Given the description of an element on the screen output the (x, y) to click on. 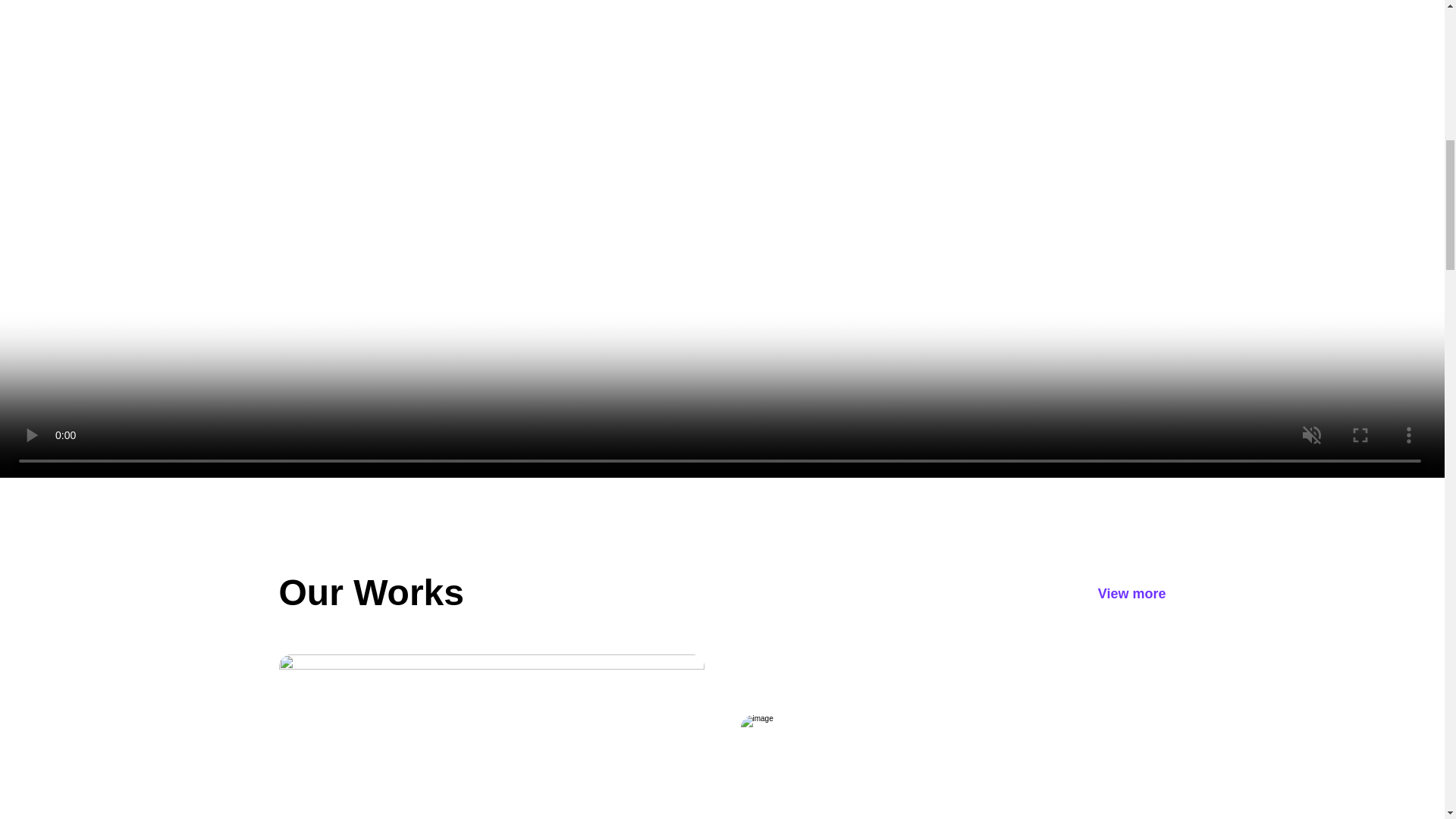
View more (1131, 593)
